Given the description of an element on the screen output the (x, y) to click on. 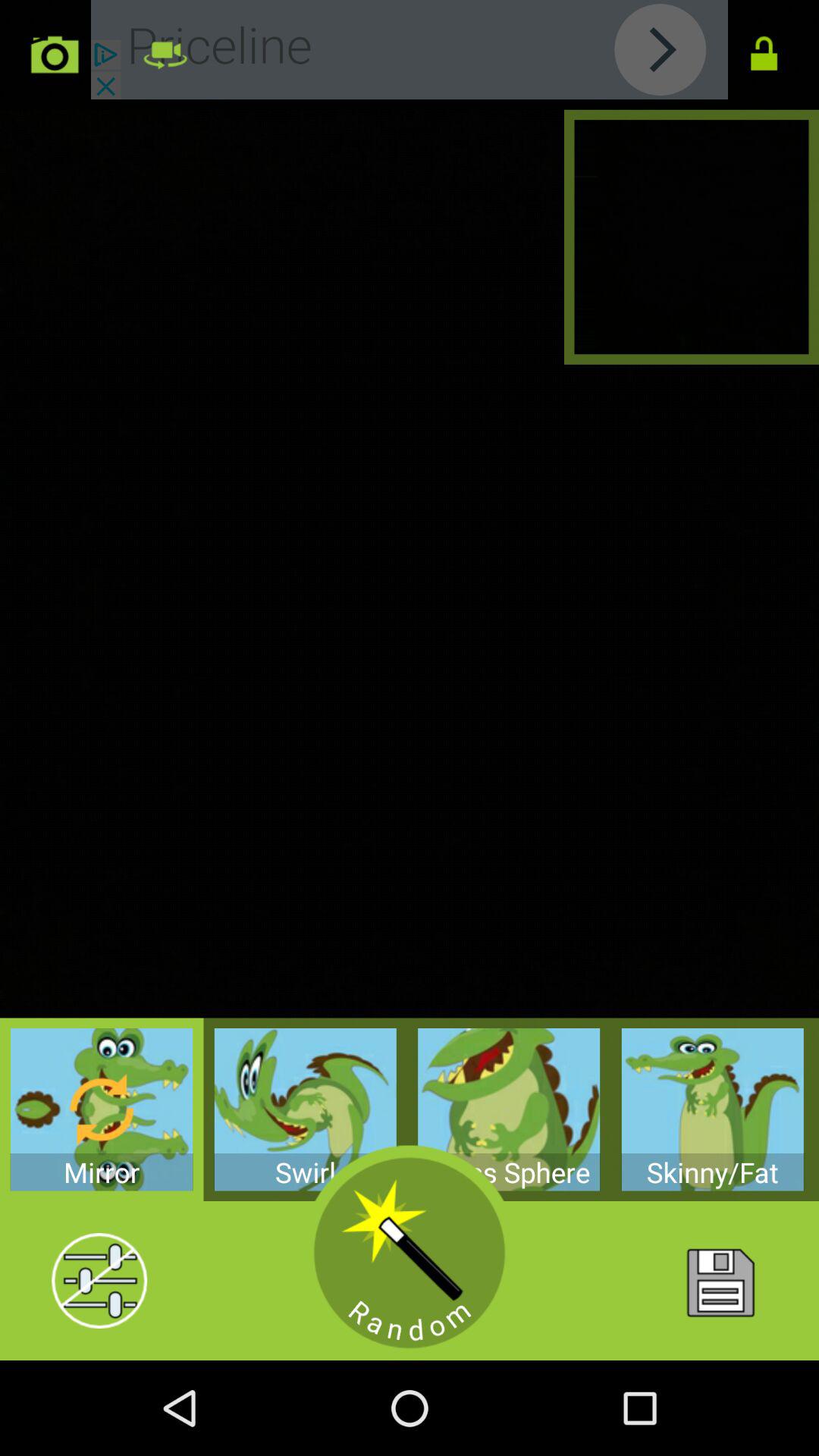
game (409, 1252)
